Given the description of an element on the screen output the (x, y) to click on. 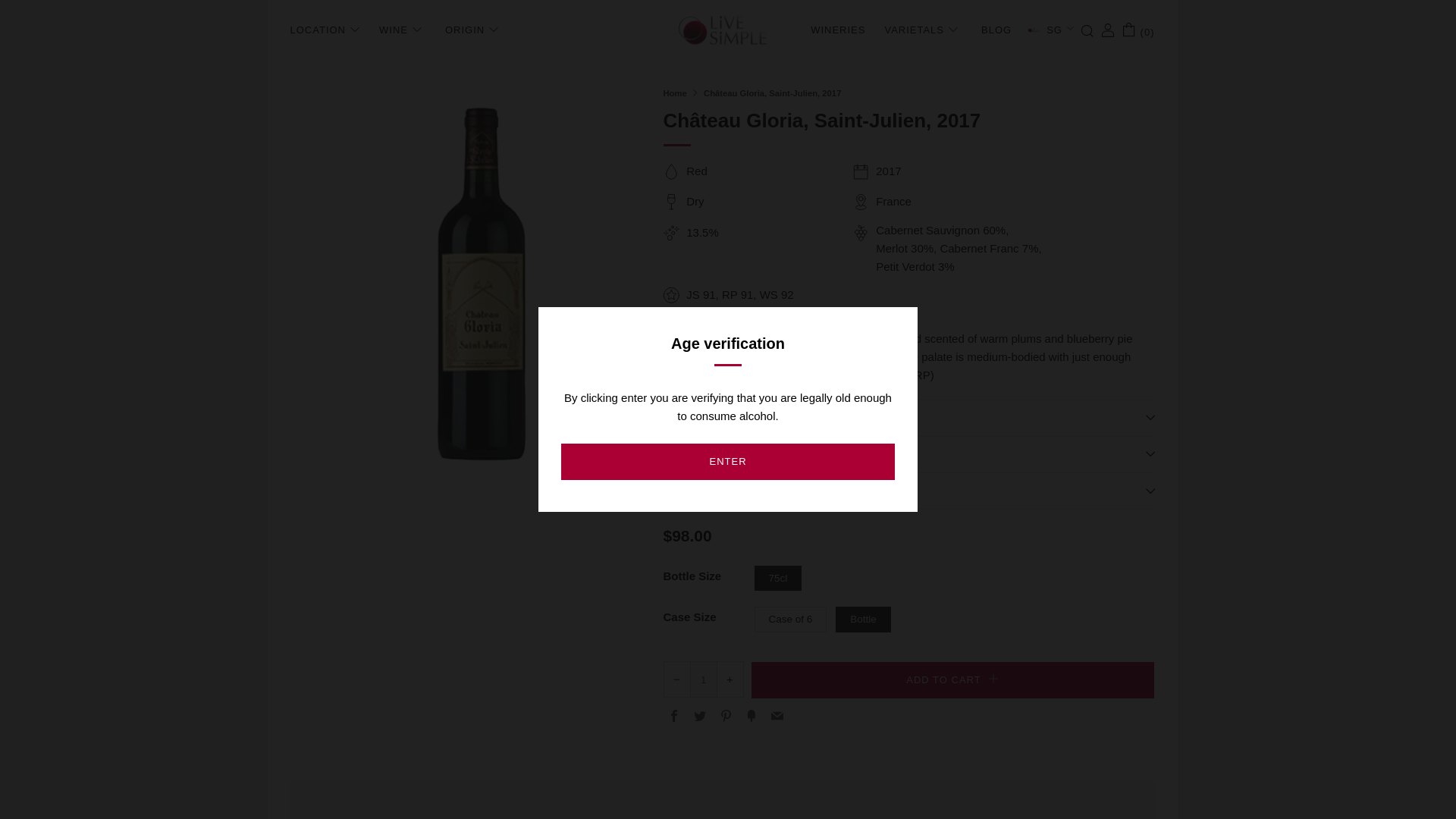
Home (673, 92)
ENTER (727, 461)
